Given the description of an element on the screen output the (x, y) to click on. 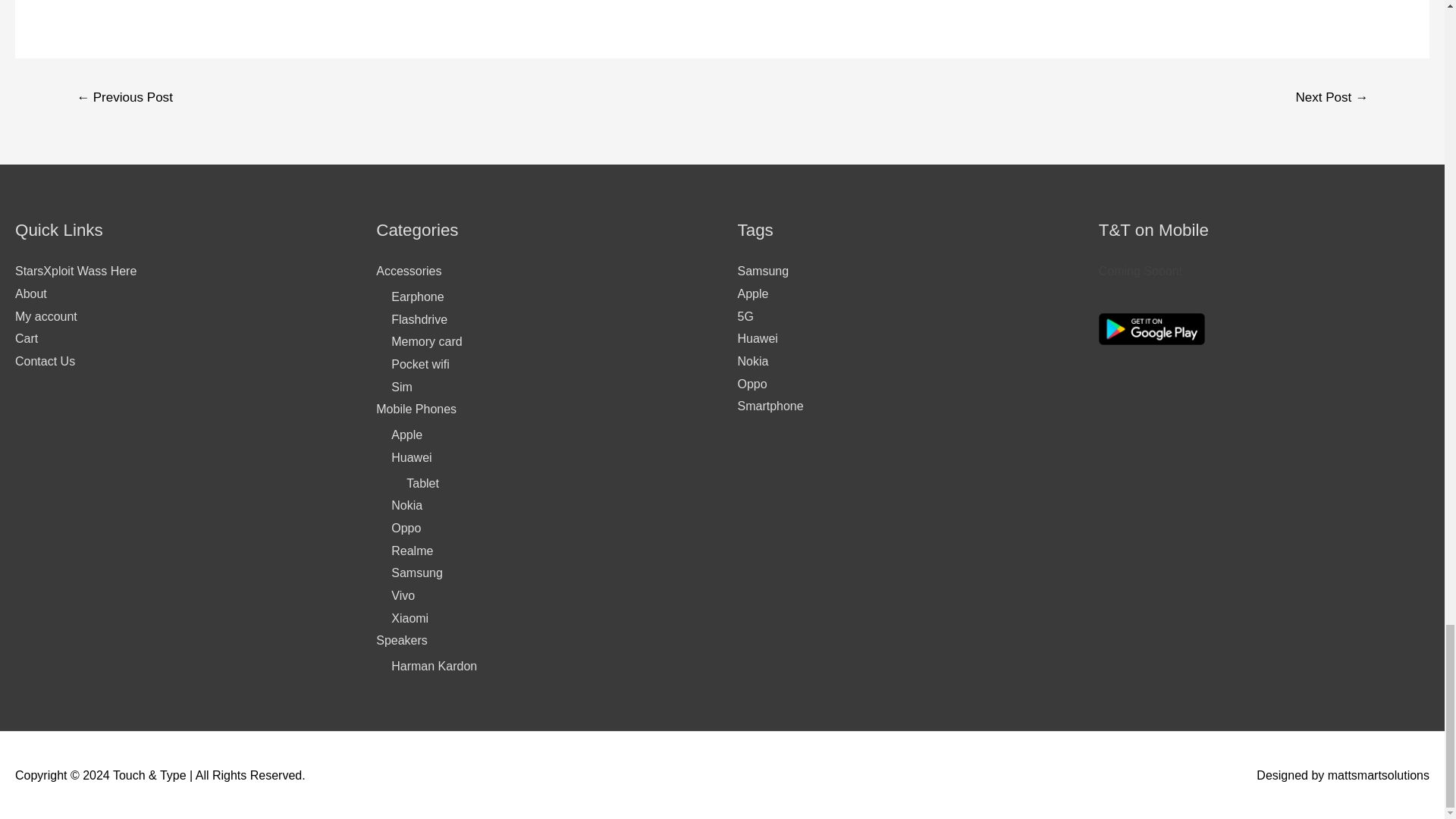
StarsXploit Wass Here (75, 270)
Memory card (426, 341)
Contact Us (44, 360)
Cart (25, 338)
About (30, 293)
My account (45, 316)
Earphone (417, 296)
Accessories (408, 270)
Flashdrive (418, 318)
